Given the description of an element on the screen output the (x, y) to click on. 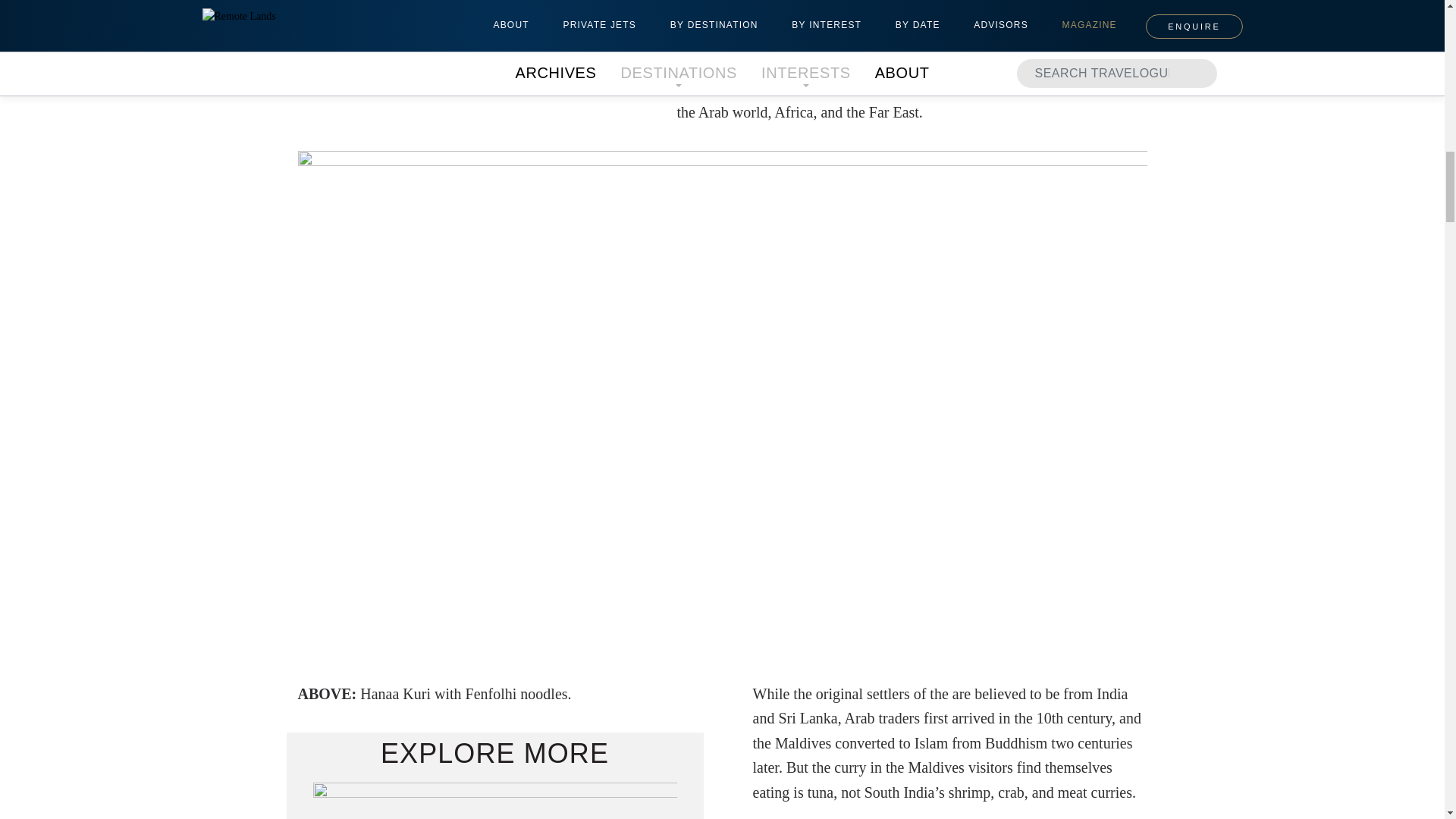
chav1 (495, 800)
